Given the description of an element on the screen output the (x, y) to click on. 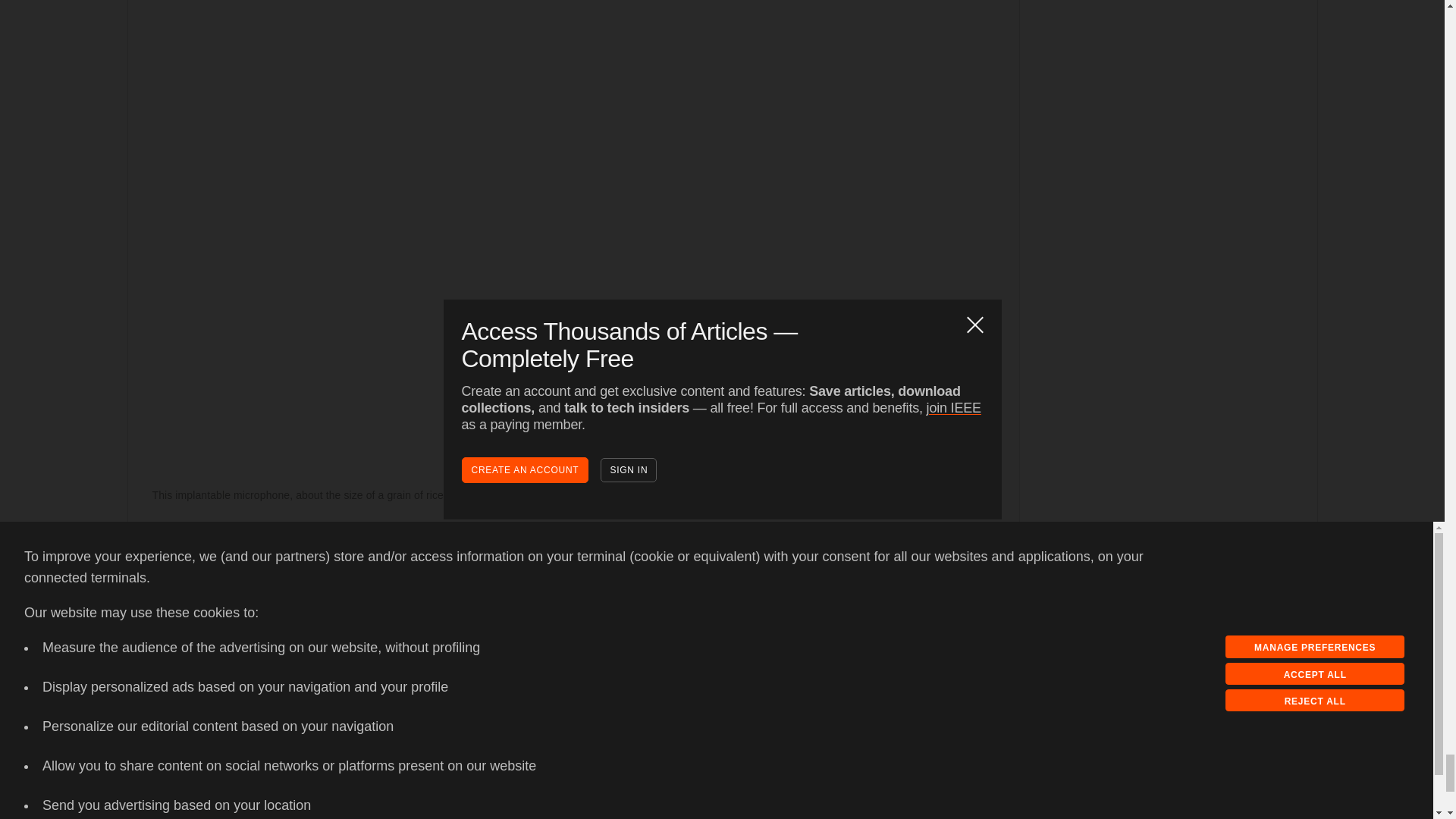
Copy this link to clipboard (192, 569)
